Given the description of an element on the screen output the (x, y) to click on. 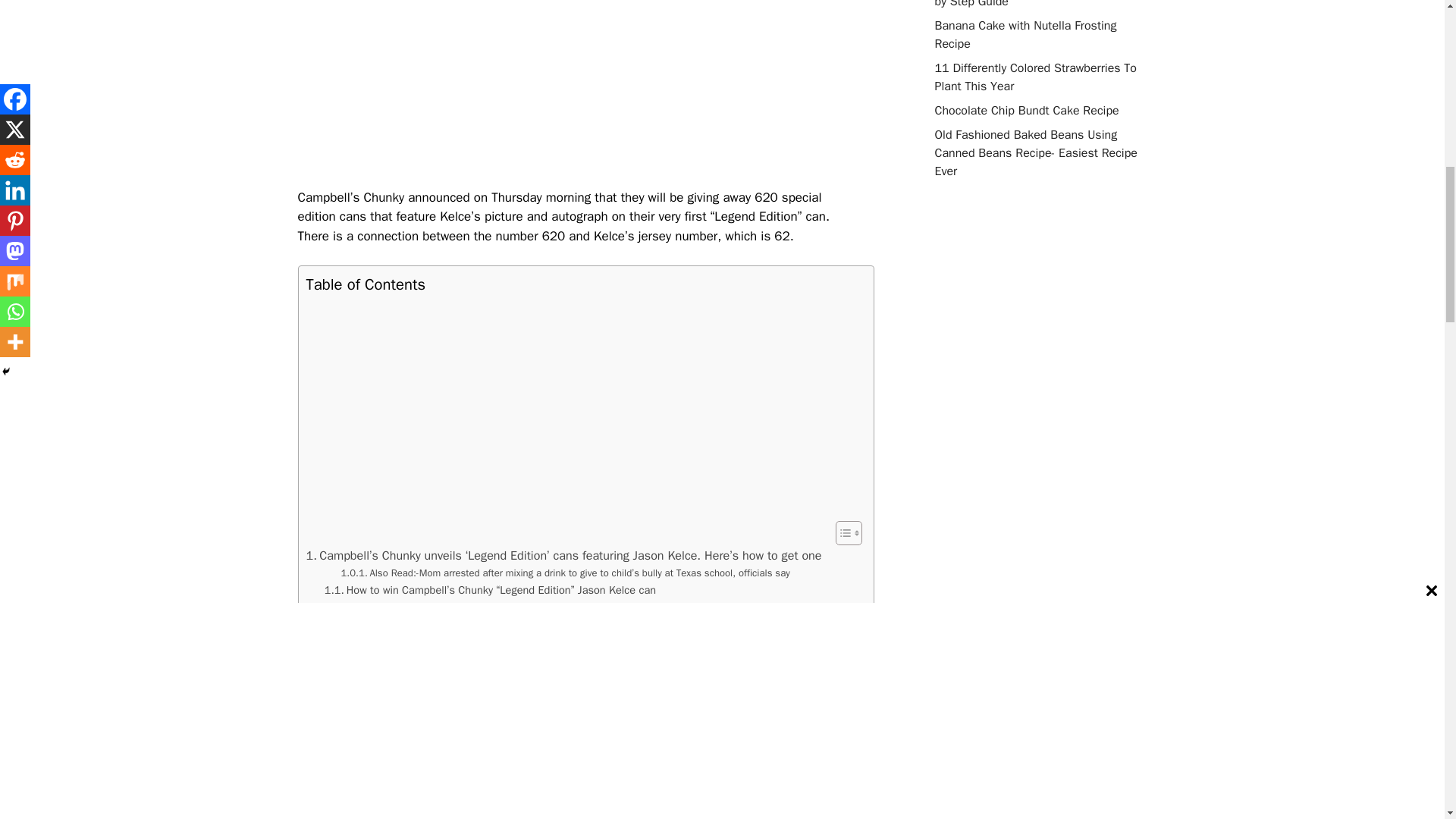
Advertisement (582, 408)
Related posts: (370, 607)
Advertisement (585, 90)
